Given the description of an element on the screen output the (x, y) to click on. 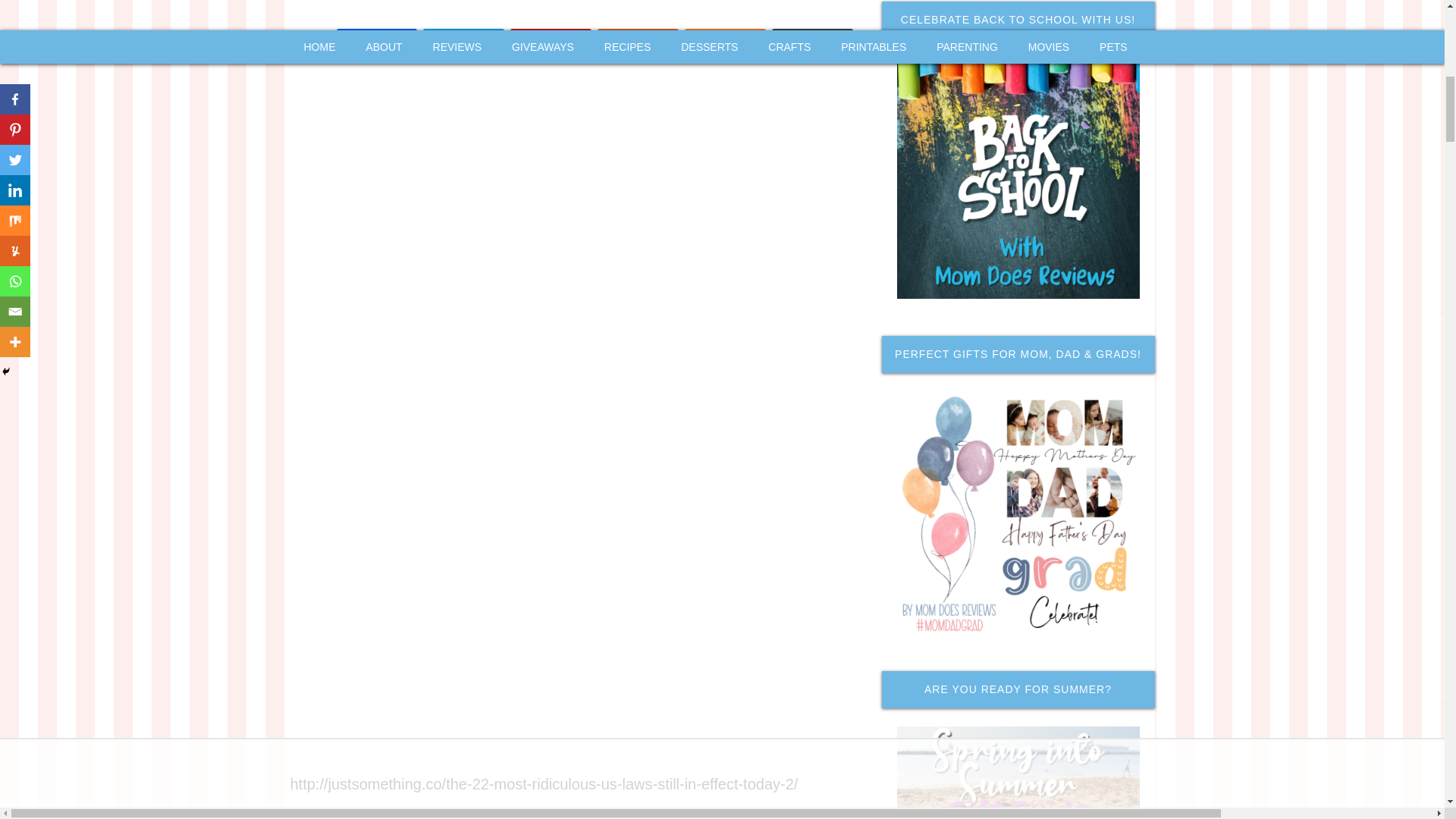
Share on Facebook (376, 41)
Facebook (376, 41)
